Given the description of an element on the screen output the (x, y) to click on. 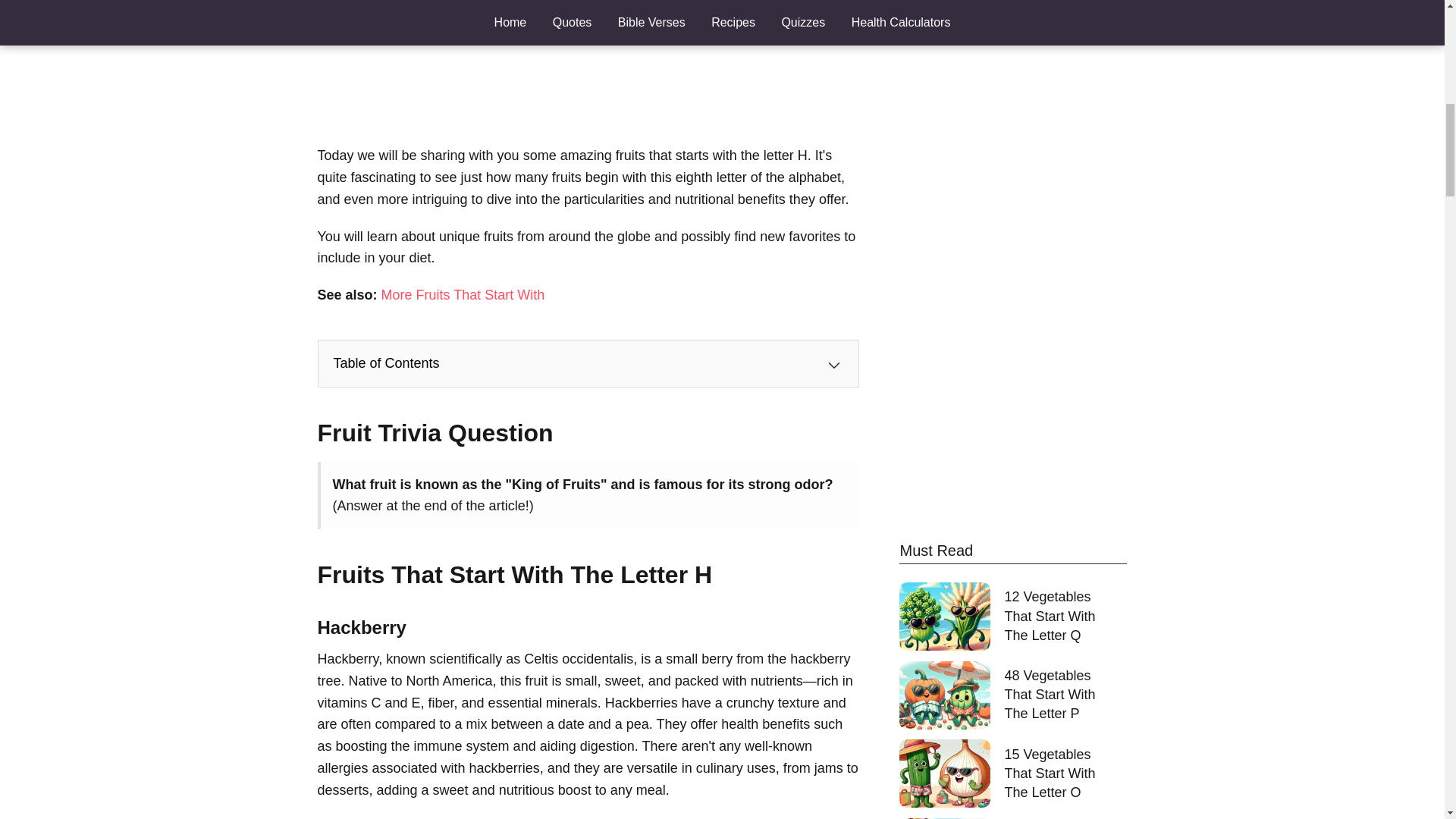
Advertisement (588, 64)
More Fruits That Start With (462, 294)
